Given the description of an element on the screen output the (x, y) to click on. 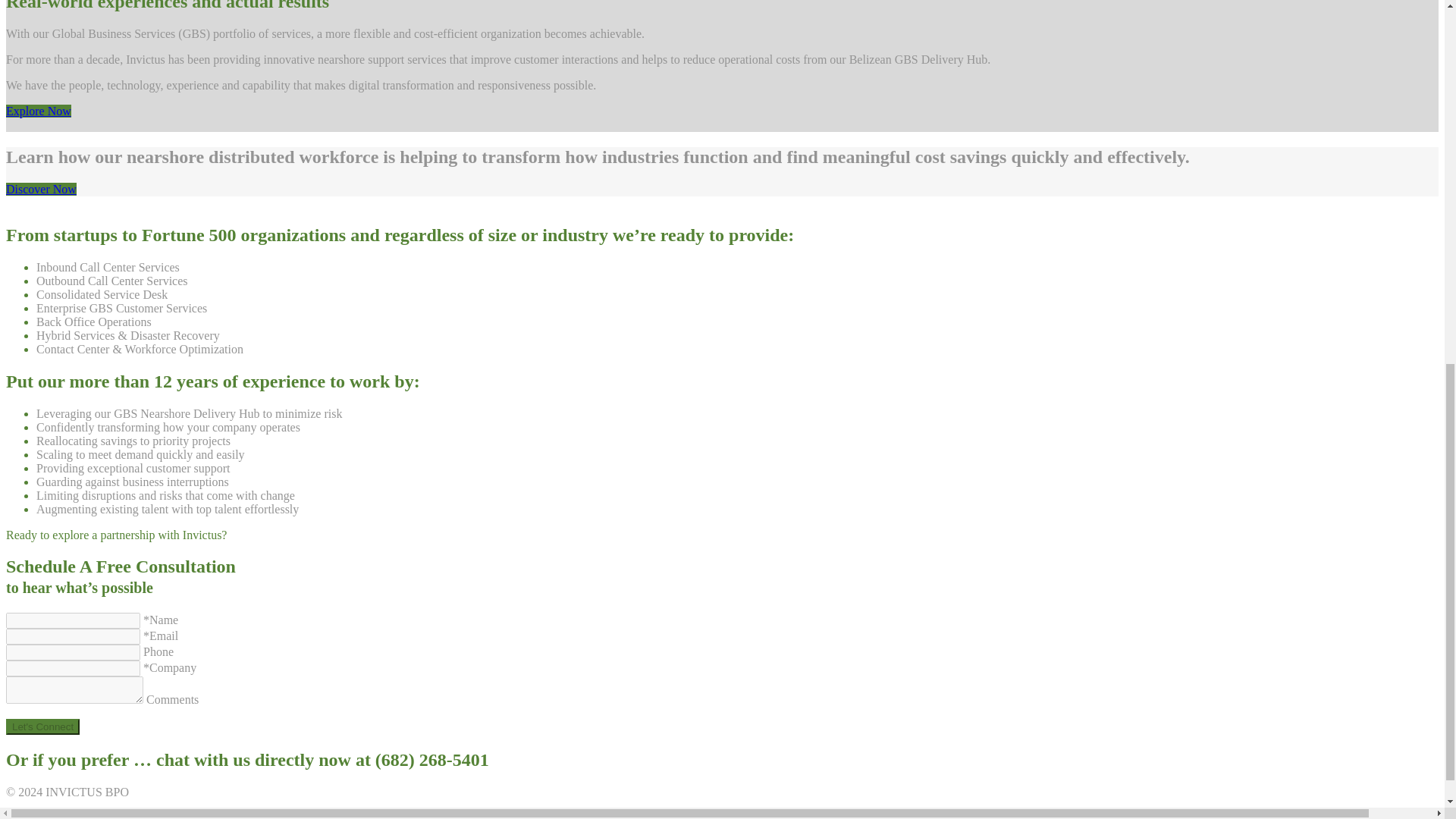
Discover Now (41, 188)
Explore Now (38, 110)
Let's Connect (42, 726)
